Given the description of an element on the screen output the (x, y) to click on. 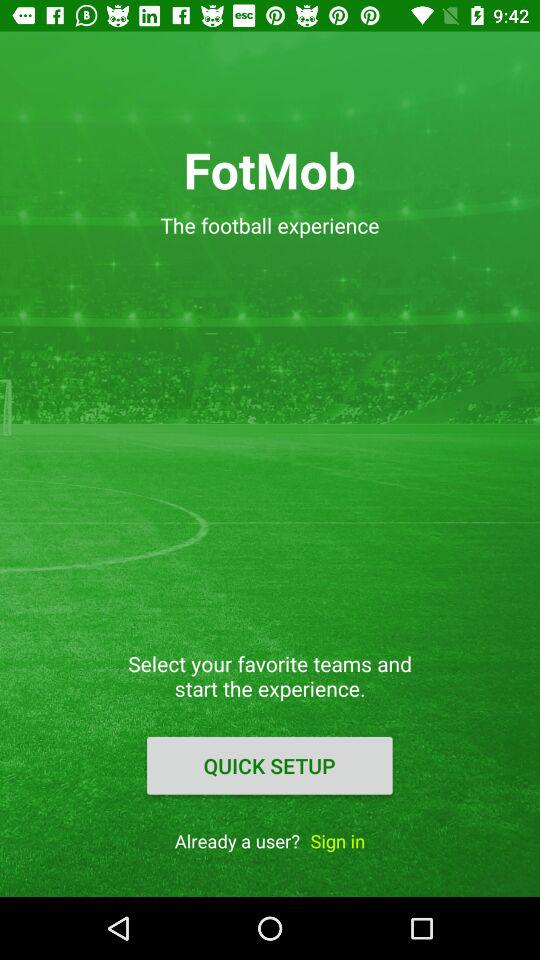
jump to quick setup icon (269, 765)
